Given the description of an element on the screen output the (x, y) to click on. 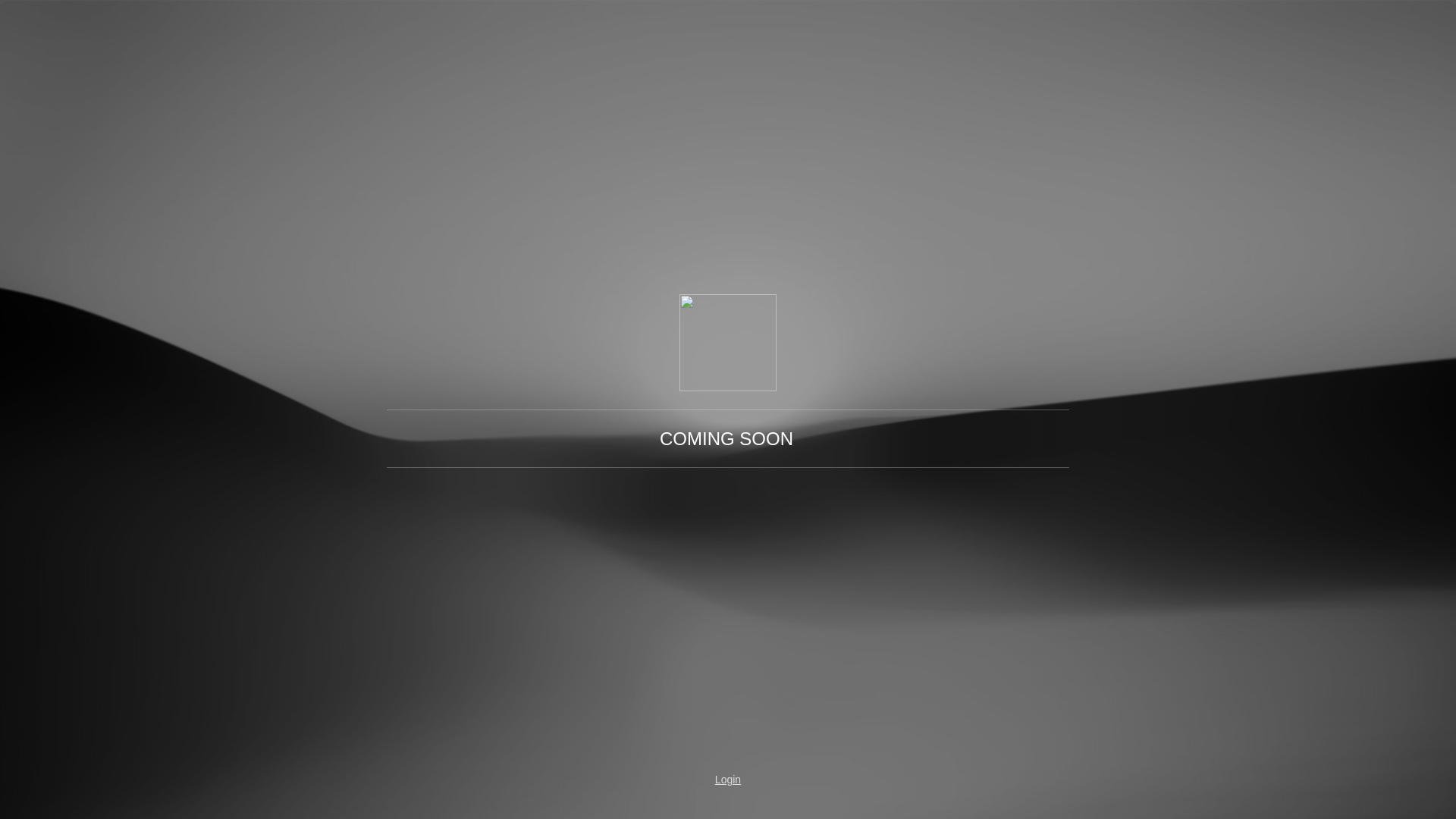
Login Element type: text (727, 779)
